Given the description of an element on the screen output the (x, y) to click on. 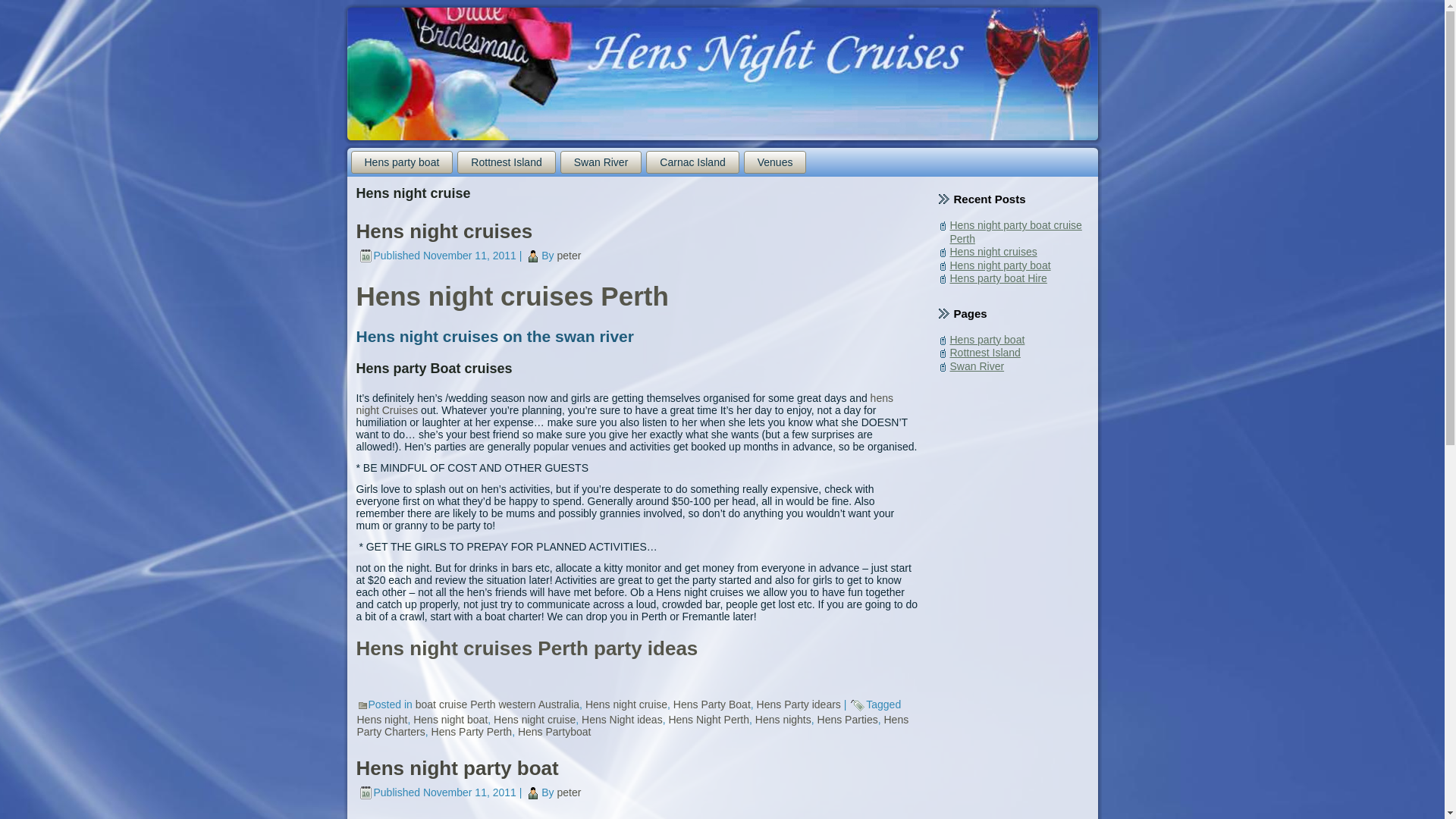
Hens Party idears Element type: text (798, 704)
Hens night party boat cruise Perth Element type: text (1015, 231)
boat cruise Perth western Australia Element type: text (497, 704)
Hens night boat Element type: text (450, 719)
Hens night cruises Element type: text (444, 230)
Hens Parties Element type: text (847, 719)
Hens night party boat Element type: text (457, 767)
Hens Party Charters Element type: text (632, 725)
Hens party boat Hire Element type: text (997, 278)
Hens Partyboat Element type: text (554, 731)
Hens party boat Element type: text (401, 161)
peter Element type: text (569, 792)
Venues Element type: text (774, 161)
Hens Night Perth Element type: text (708, 719)
Hens night cruise Element type: text (534, 719)
Hens night cruise Element type: text (626, 704)
Carnac Island Element type: text (692, 161)
peter Element type: text (569, 255)
hens night Cruises Element type: text (624, 404)
Rottnest Island Element type: text (506, 161)
Hens night party boat Element type: text (999, 265)
Hens Party Perth Element type: text (471, 731)
Hens party boat Element type: text (986, 339)
Swan River Element type: text (976, 365)
Hens Night ideas Element type: text (621, 719)
Swan River Element type: text (601, 161)
Hens night cruises Element type: text (992, 251)
Hens nights Element type: text (783, 719)
Rottnest Island Element type: text (984, 352)
Hens night Element type: text (381, 719)
Hens Party Boat Element type: text (711, 704)
